Given the description of an element on the screen output the (x, y) to click on. 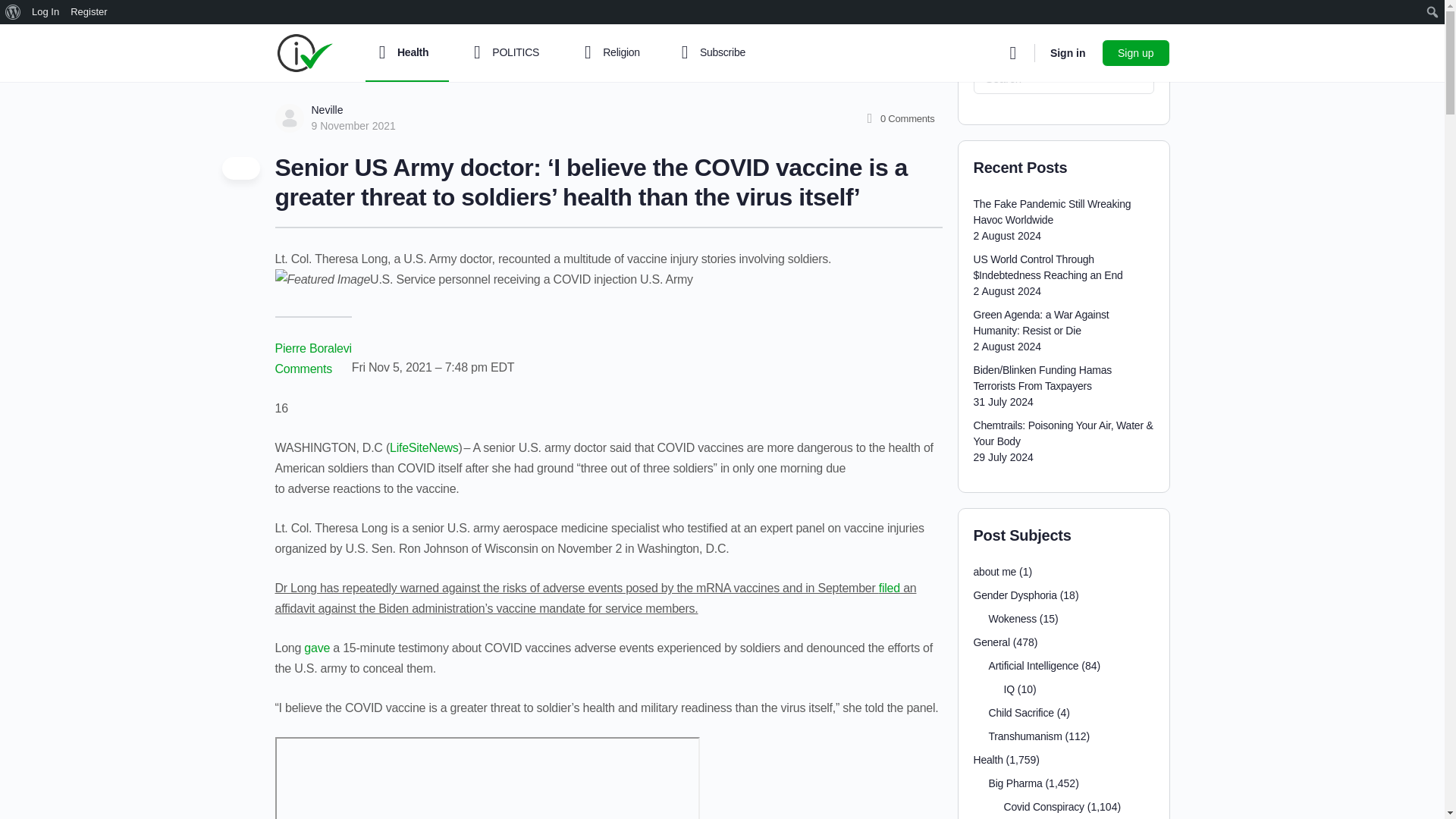
Sign in (1067, 53)
POLITICS (509, 52)
YouTube video player (486, 778)
Sign up (1135, 52)
Religion (615, 52)
Search (16, 12)
Register (89, 12)
Log In (45, 12)
Health (406, 52)
Comment on this article (304, 368)
Subscribe (710, 52)
